Given the description of an element on the screen output the (x, y) to click on. 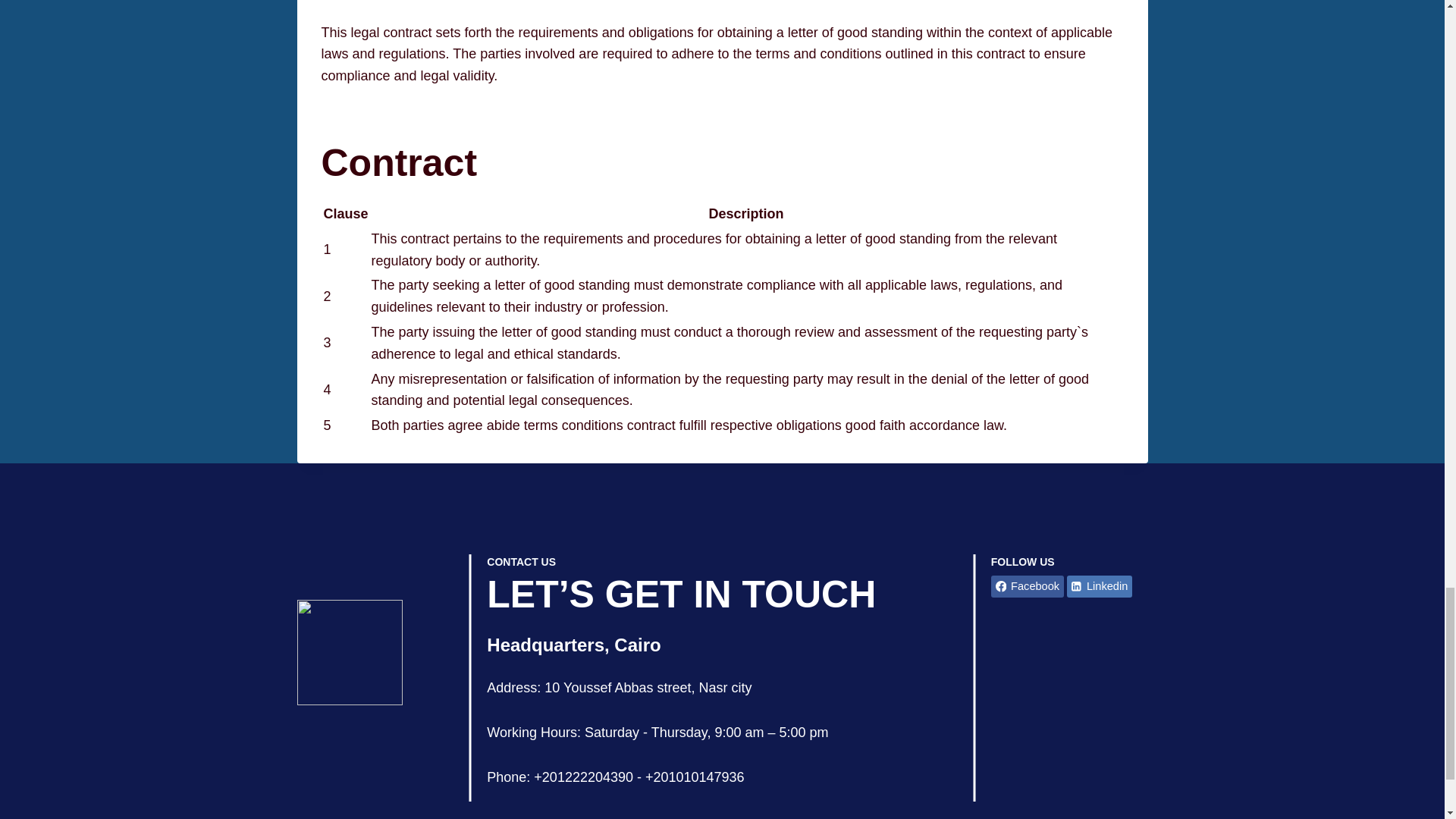
Linkedin (1099, 586)
10 Youssef Abbas street, Nasr city (647, 687)
Facebook (1027, 586)
